Given the description of an element on the screen output the (x, y) to click on. 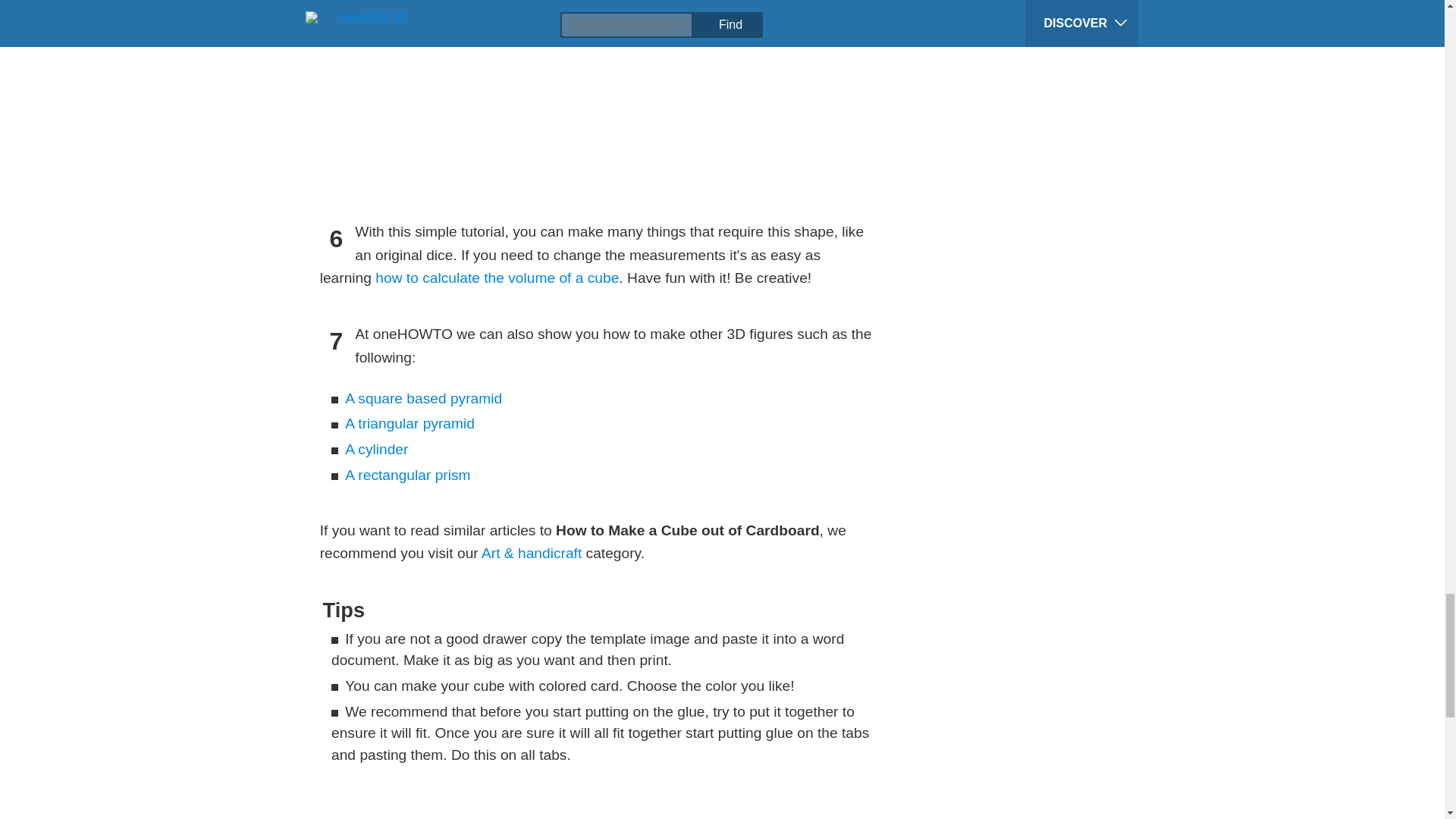
A cylinder (376, 449)
A triangular pyramid (409, 423)
how to calculate the volume of a cube (496, 277)
A rectangular prism (407, 474)
A square based pyramid (423, 398)
